Given the description of an element on the screen output the (x, y) to click on. 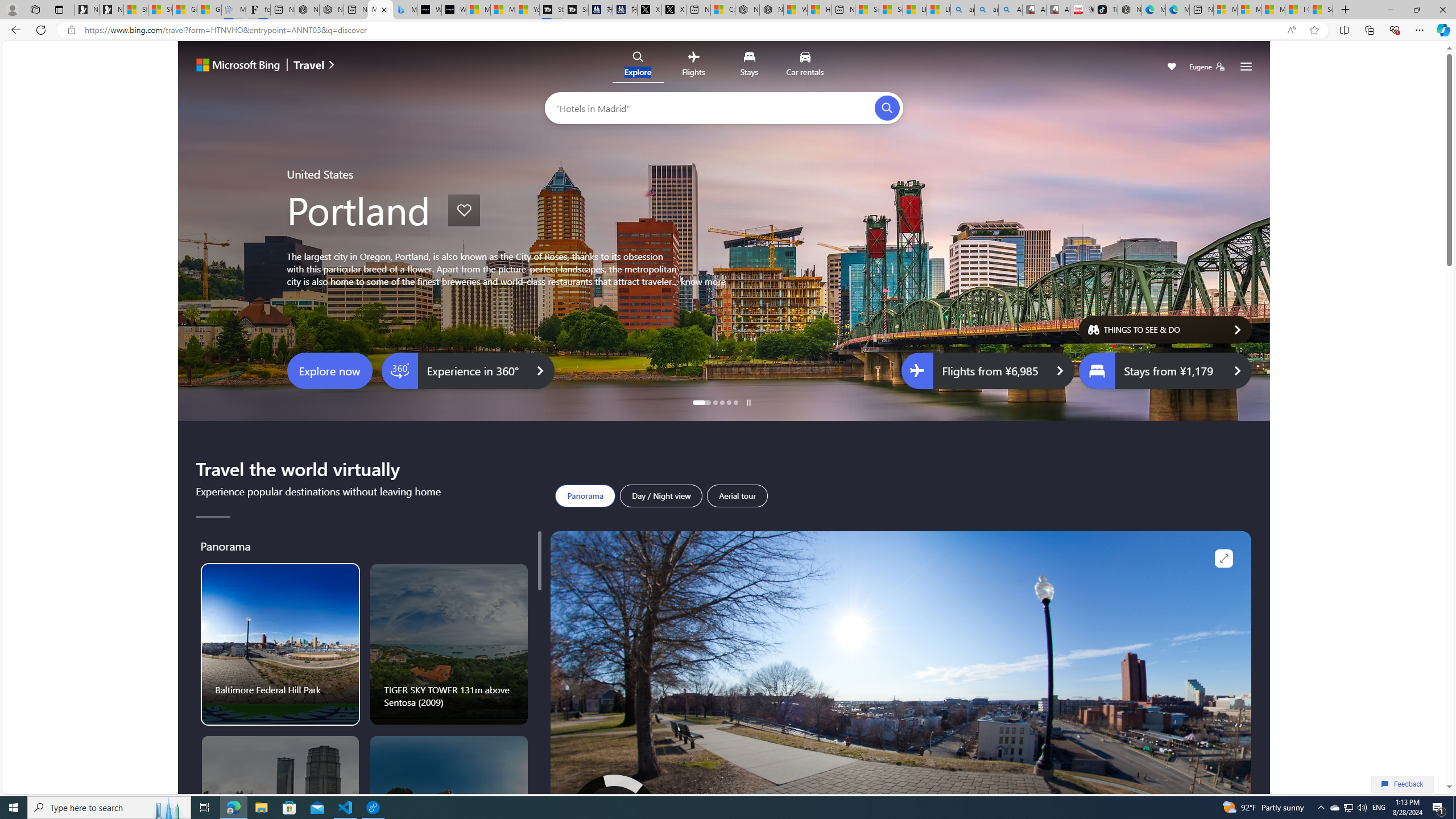
Newsletter Sign Up (111, 9)
Search (886, 107)
Stays (748, 65)
Refresh (40, 29)
Microsoft Start Sports (478, 9)
Save to collections (464, 210)
Baltimore Federal Hill Park (279, 644)
New tab (1201, 9)
Minimize (1390, 9)
Explore (637, 65)
Close (1442, 9)
Workspaces (34, 9)
